Given the description of an element on the screen output the (x, y) to click on. 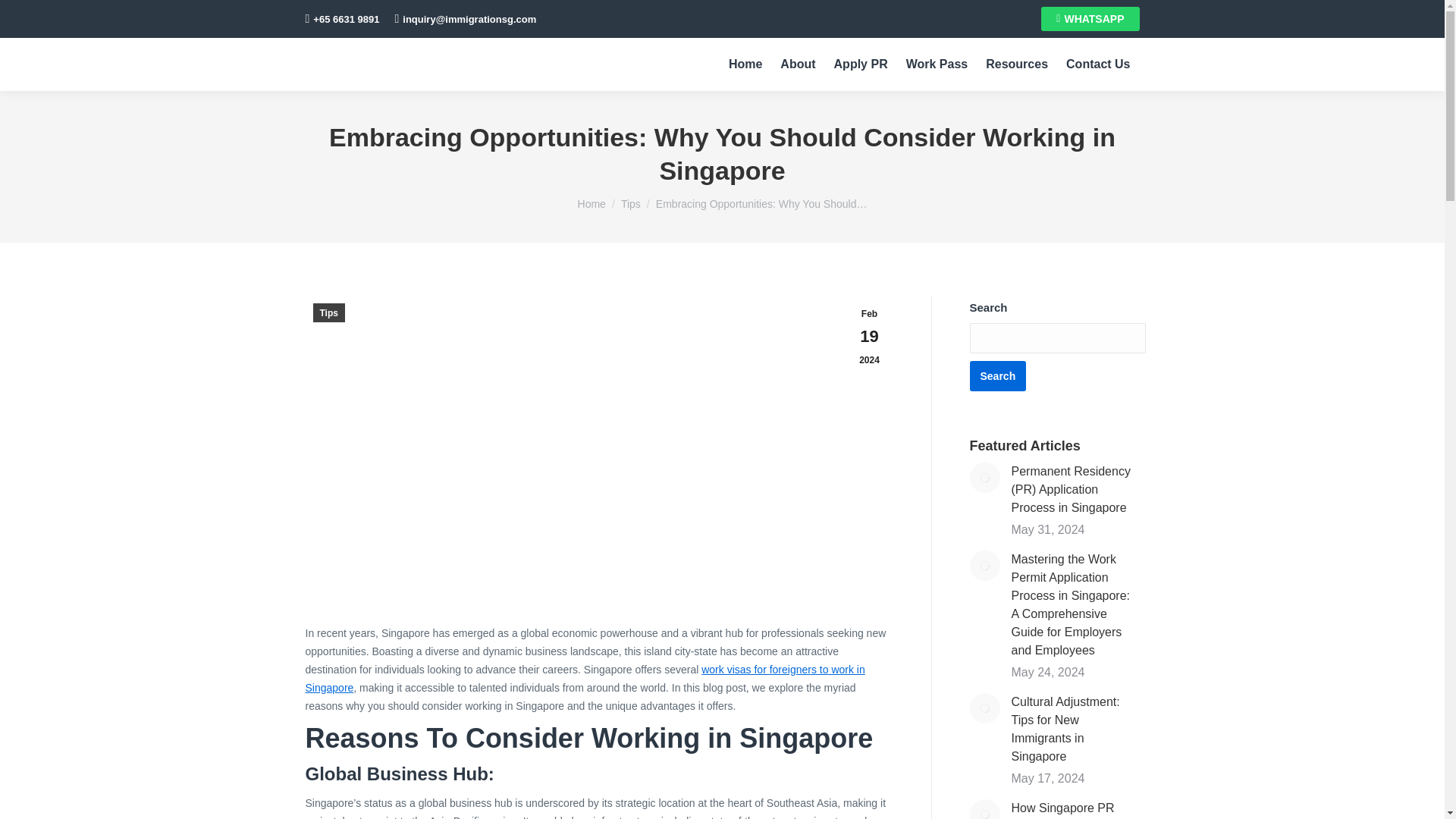
Tips (630, 203)
Work Pass (936, 63)
Apply PR (860, 63)
About (797, 63)
Home (591, 203)
work visas for foreigners to work in Singapore (584, 677)
Tips (328, 312)
Contact Us (1097, 63)
Resources (1016, 63)
WHATSAPP (1089, 18)
